Given the description of an element on the screen output the (x, y) to click on. 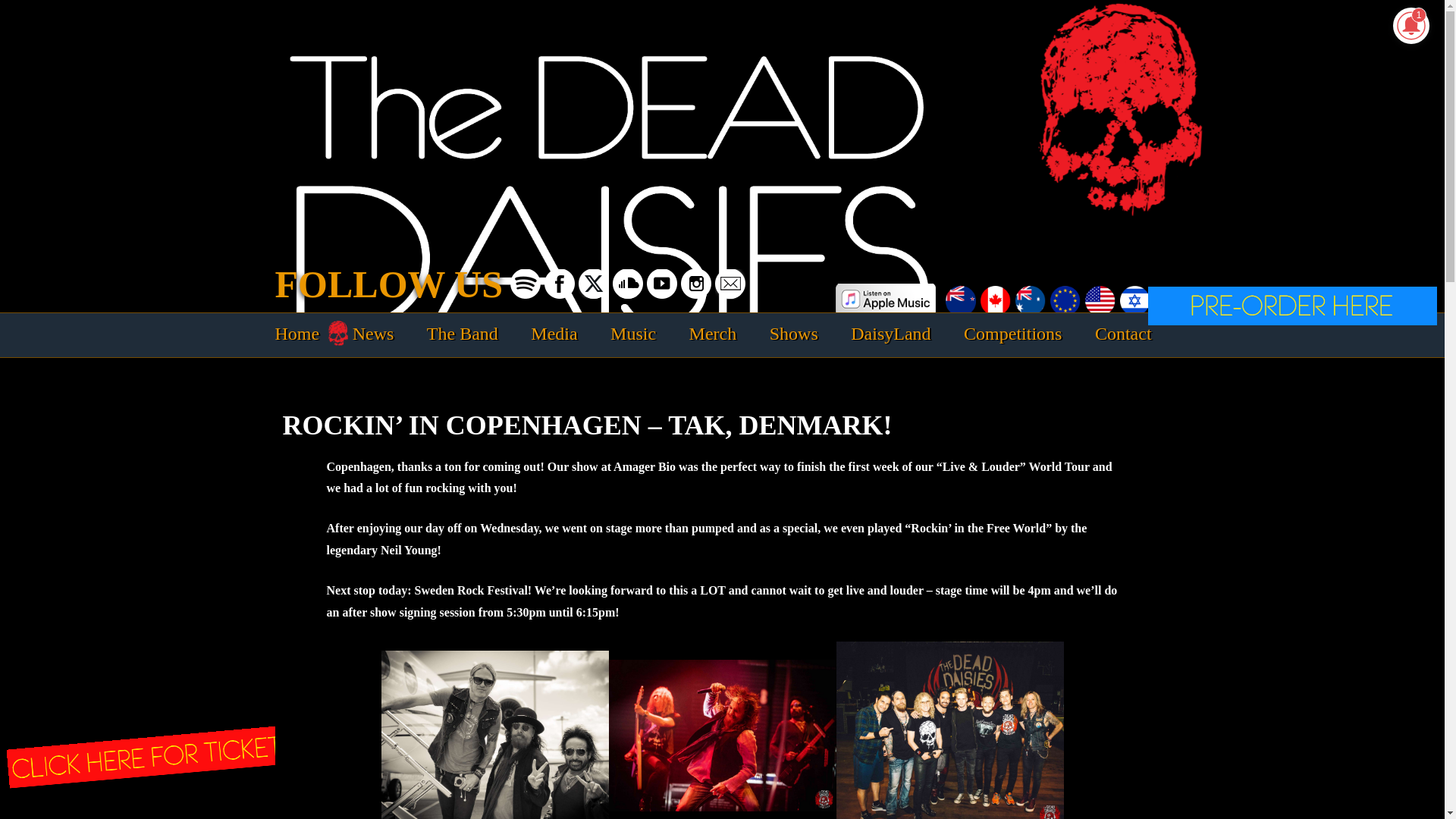
Home (296, 333)
Twitter (593, 284)
Spotify (525, 284)
The Band (461, 333)
Soundcloud (627, 284)
News (373, 333)
YouTube (661, 284)
Media (553, 333)
Instagram (696, 284)
